Given the description of an element on the screen output the (x, y) to click on. 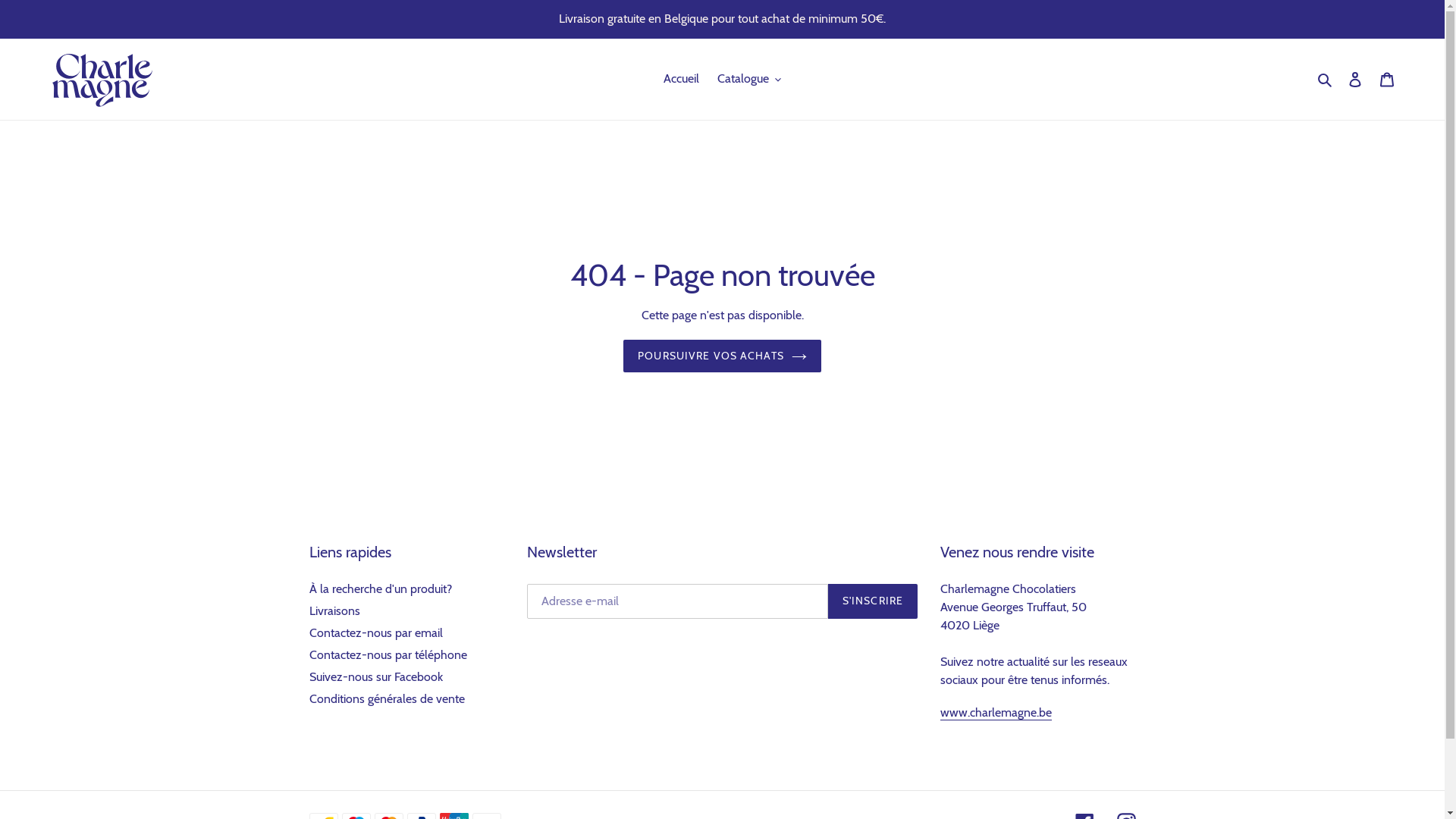
Contactez-nous par email Element type: text (375, 632)
POURSUIVRE VOS ACHATS Element type: text (722, 355)
www.charlemagne.be Element type: text (995, 712)
Se connecter Element type: text (1355, 78)
Panier Element type: text (1386, 78)
Catalogue Element type: text (748, 78)
Accueil Element type: text (680, 78)
Rechercher Element type: text (1325, 78)
Suivez-nous sur Facebook Element type: text (375, 676)
S'INSCRIRE Element type: text (872, 600)
Livraisons Element type: text (334, 610)
